Given the description of an element on the screen output the (x, y) to click on. 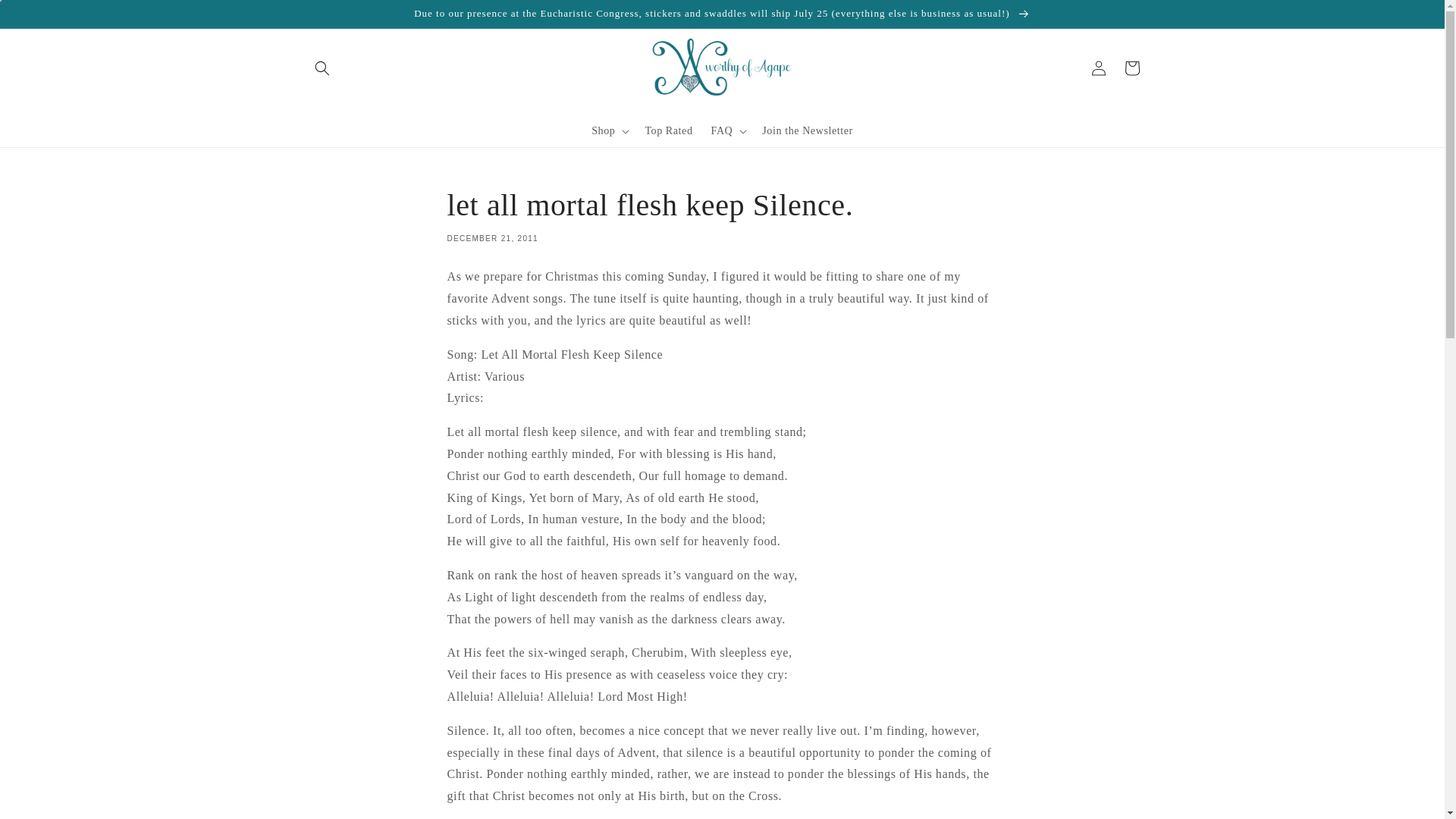
Skip to content (45, 17)
